Given the description of an element on the screen output the (x, y) to click on. 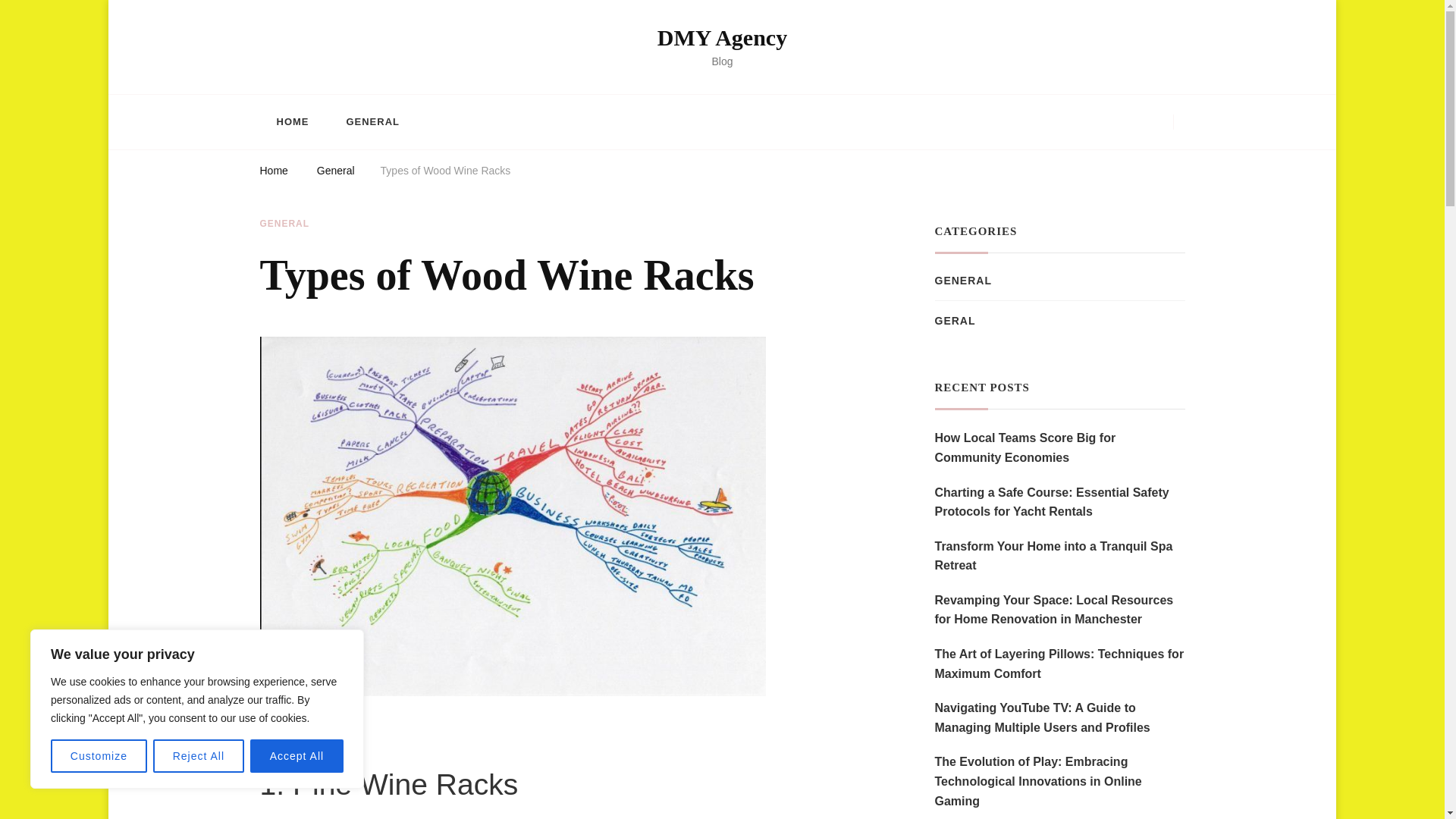
General (336, 172)
DMY Agency (722, 37)
Accept All (296, 756)
GENERAL (283, 223)
GENERAL (371, 121)
Reject All (198, 756)
Home (272, 172)
Types of Wood Wine Racks (445, 172)
Customize (98, 756)
HOME (291, 121)
